Given the description of an element on the screen output the (x, y) to click on. 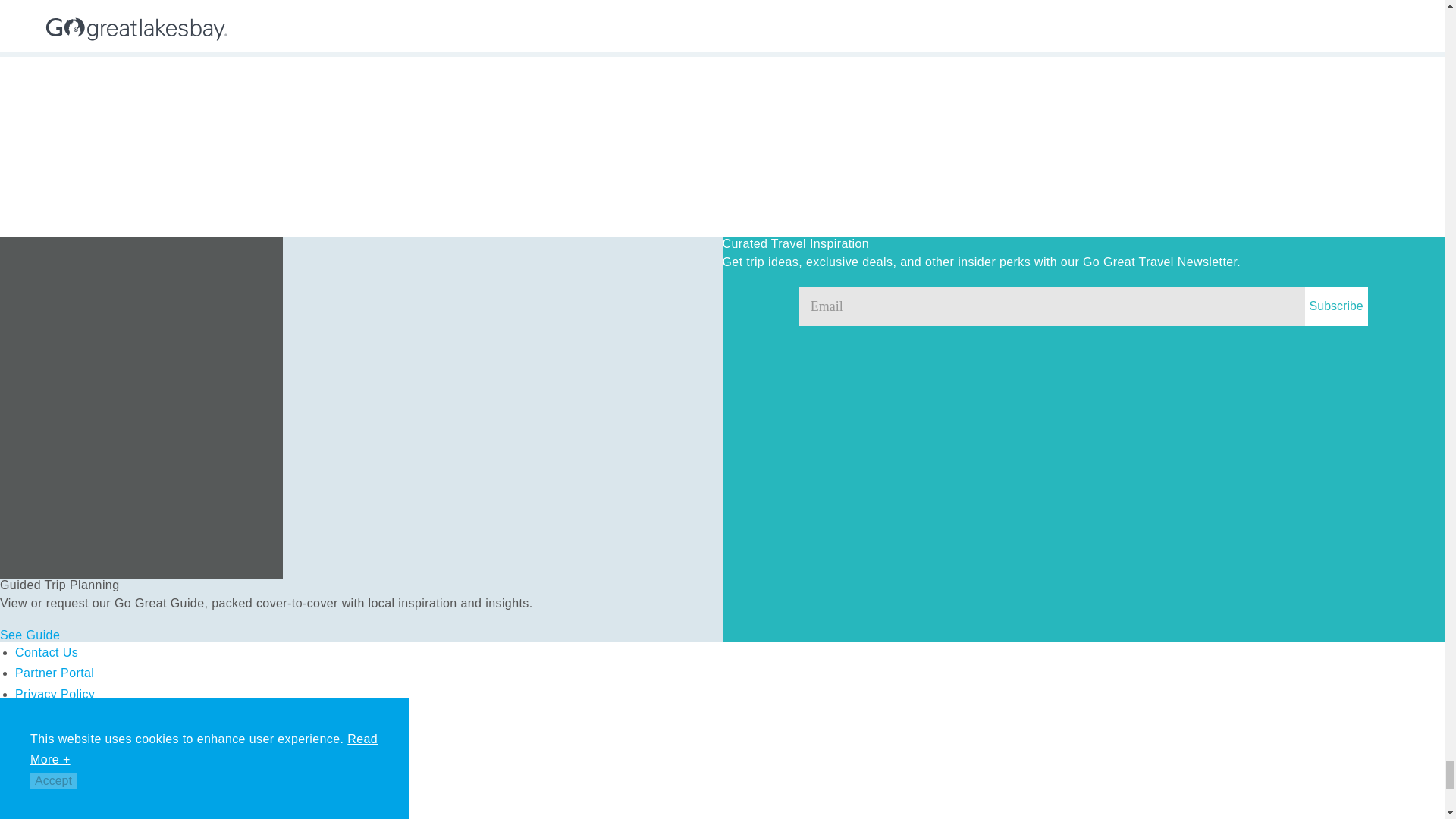
Lockup (114, 778)
